Given the description of an element on the screen output the (x, y) to click on. 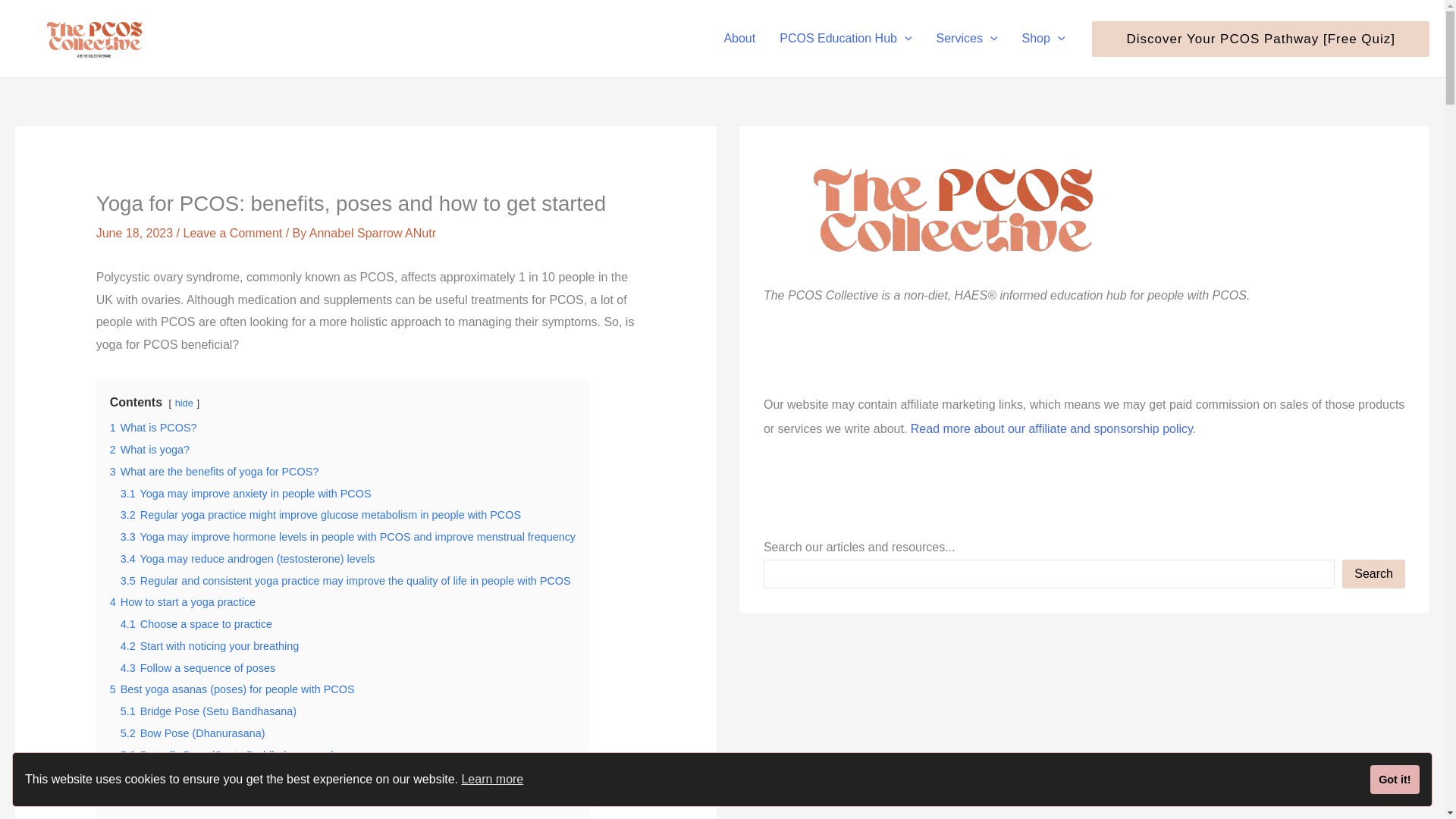
View all posts by Annabel Sparrow ANutr (371, 232)
Shop (1043, 38)
PCOS Education Hub (845, 38)
Learn more (491, 779)
Services (967, 38)
Got it! (1394, 778)
About (739, 38)
